Given the description of an element on the screen output the (x, y) to click on. 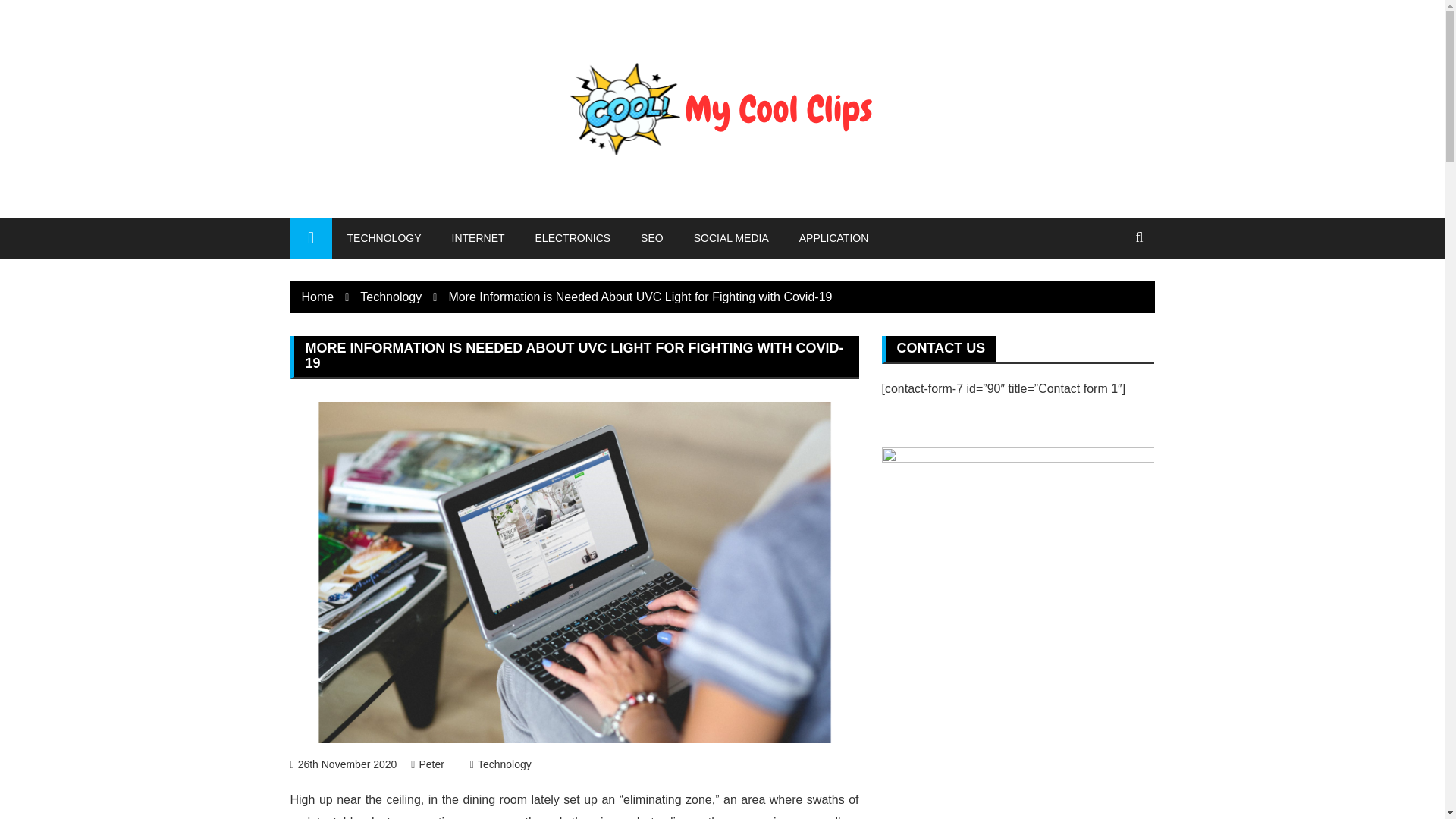
Technology (390, 296)
TECHNOLOGY (383, 237)
INTERNET (477, 237)
APPLICATION (833, 237)
Home (317, 296)
SEO (652, 237)
Technology (500, 764)
ELECTRONICS (572, 237)
26th November 2020 (342, 764)
